Given the description of an element on the screen output the (x, y) to click on. 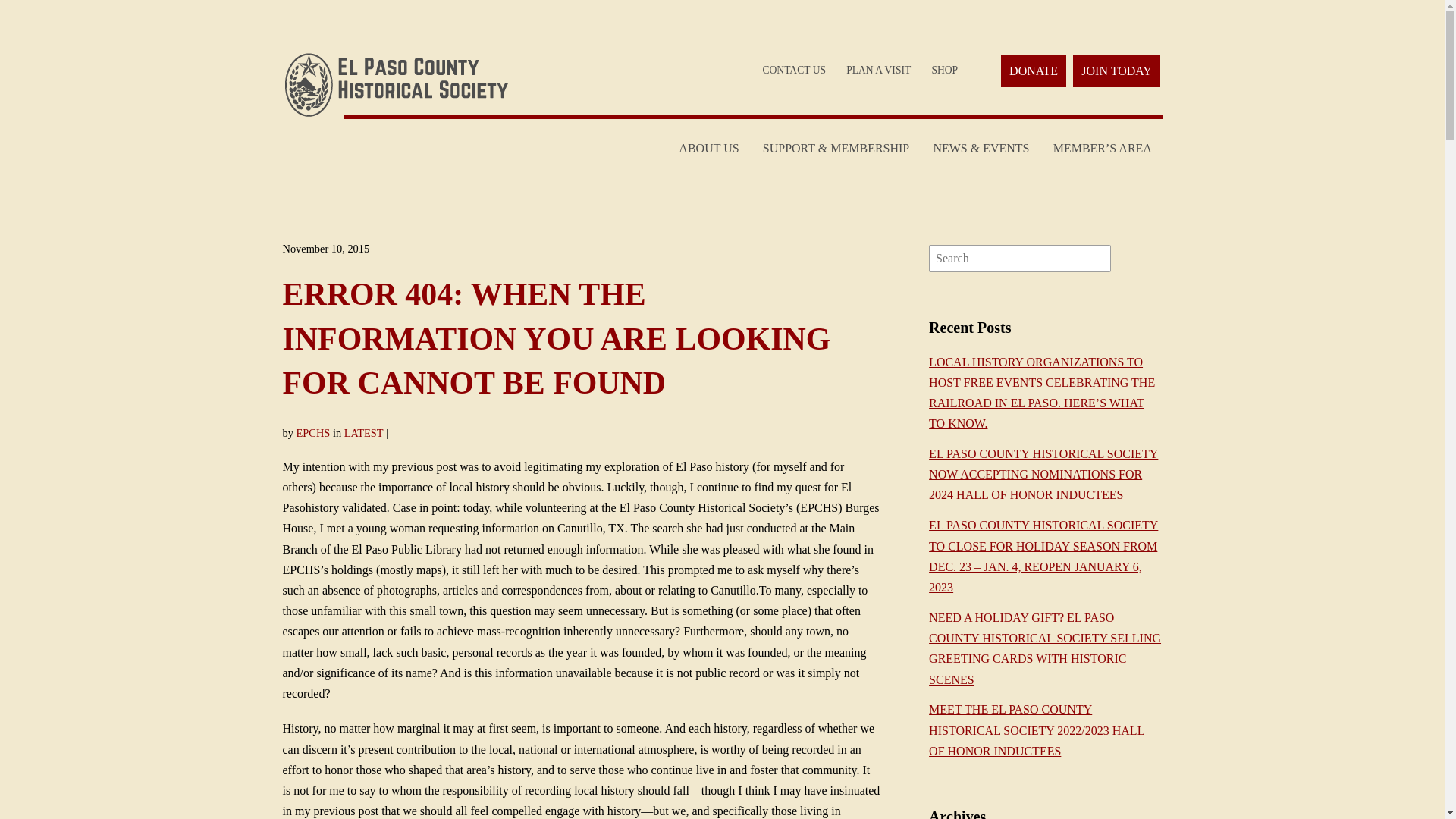
DONATE (1033, 70)
EPCHS (312, 432)
LATEST (363, 432)
SHOP (944, 69)
PLAN A VISIT (879, 69)
CONTACT US (793, 69)
